Given the description of an element on the screen output the (x, y) to click on. 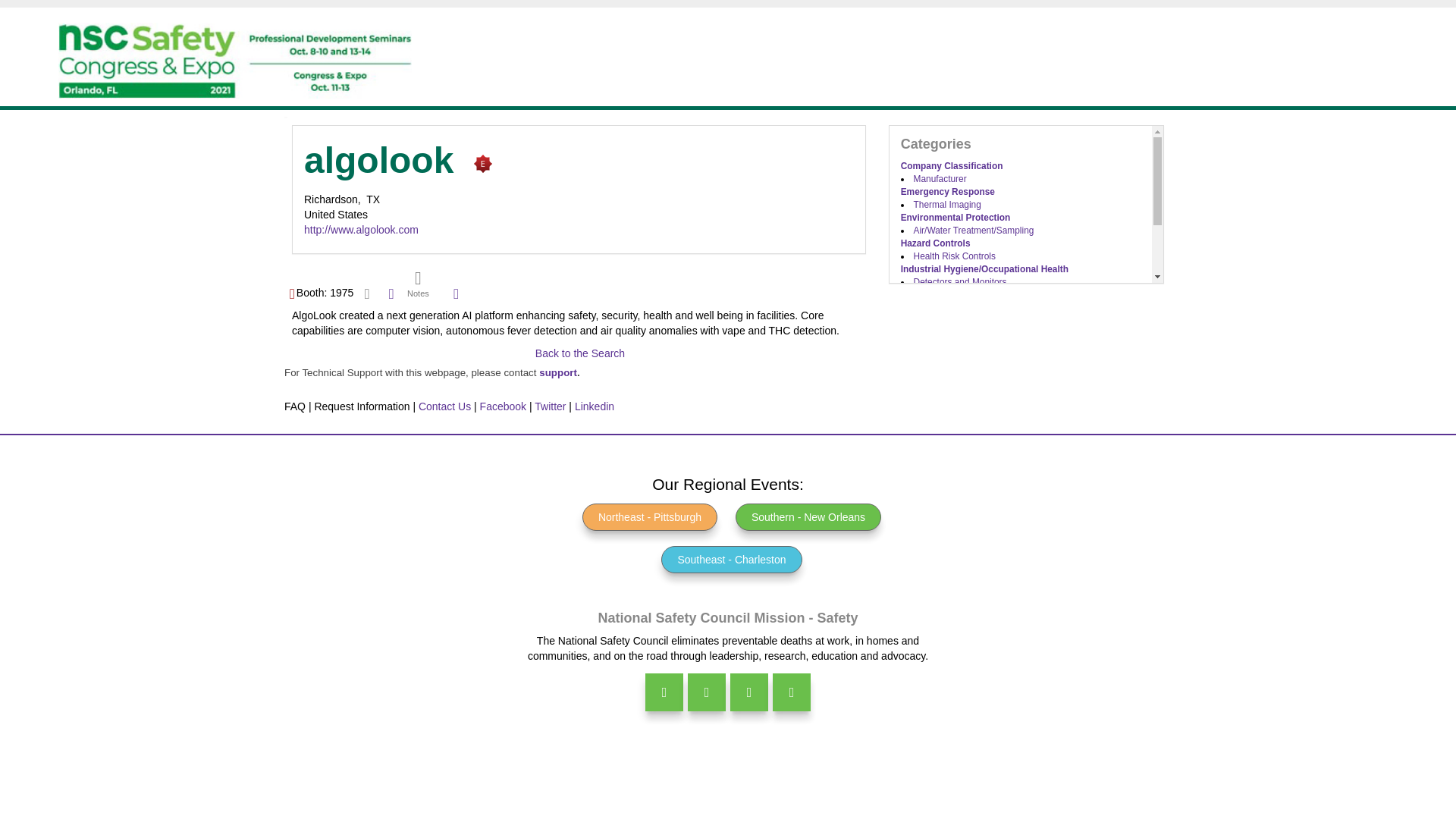
Add To My Exhibitors (455, 294)
Threat Assesments (952, 333)
Manufacturer (940, 178)
Indoor Air Quality (948, 294)
Print (390, 292)
Health Risk Controls (954, 255)
Request Appointment (366, 292)
Security (918, 307)
Company Classification (952, 165)
Thermal Imaging (947, 204)
Hazard Controls (936, 243)
Detectors and Monitors (960, 281)
Back to the Search (579, 353)
Emergency Response (947, 191)
Surveillance (938, 320)
